Given the description of an element on the screen output the (x, y) to click on. 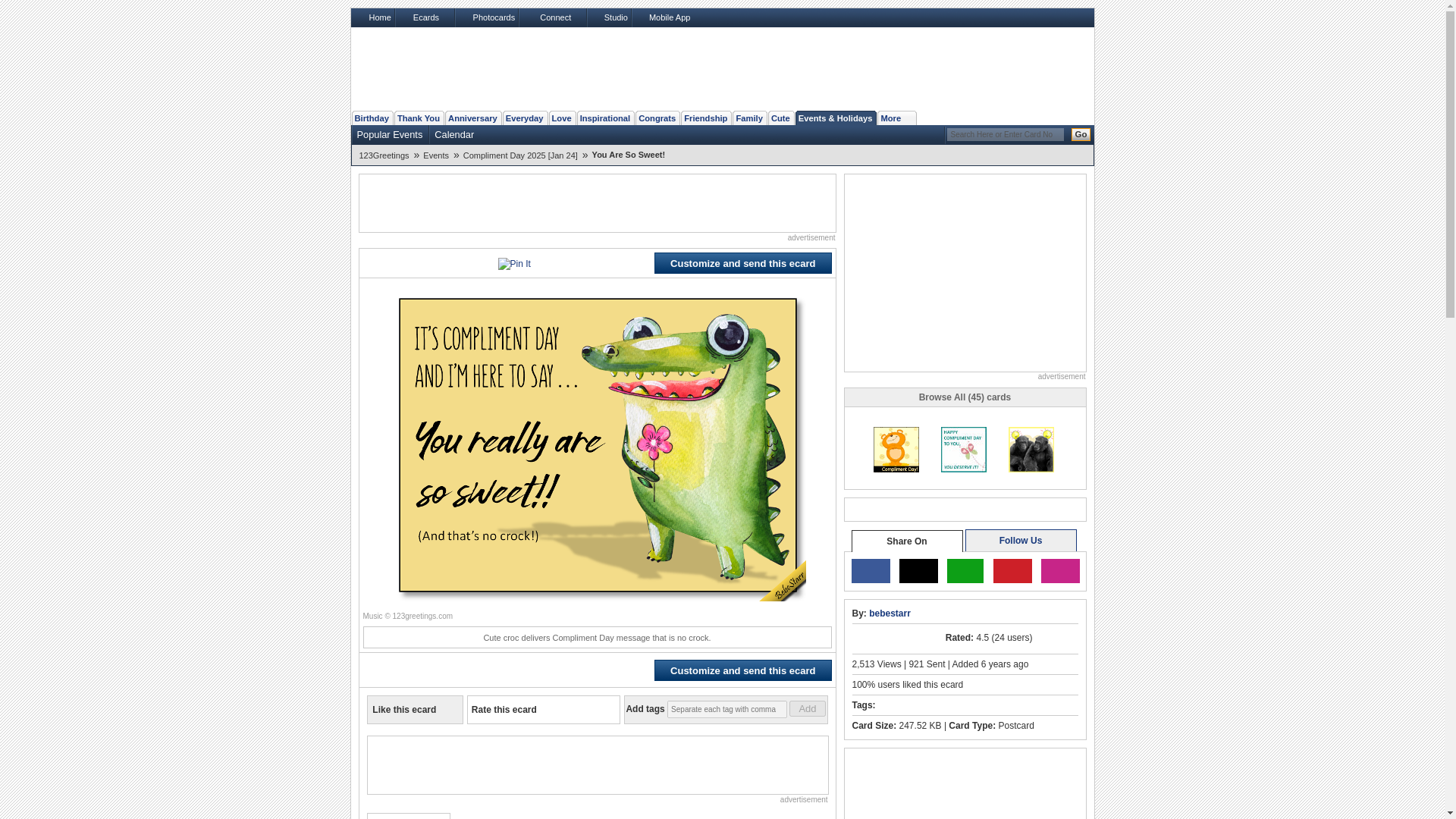
Calendar (454, 134)
Inspirational (604, 117)
Family (748, 117)
Anniversary (472, 117)
Popular Events (389, 134)
Love (561, 117)
123Greetings.com, Free Greetings for the Planet (445, 69)
Go (1079, 133)
123Greetings (386, 155)
Search Here or Enter Card No (1004, 133)
Mobile App (661, 17)
Thank You (418, 117)
Search Here or Enter Card No (1004, 133)
Home (371, 17)
Import address book or check ecards received (551, 17)
